Given the description of an element on the screen output the (x, y) to click on. 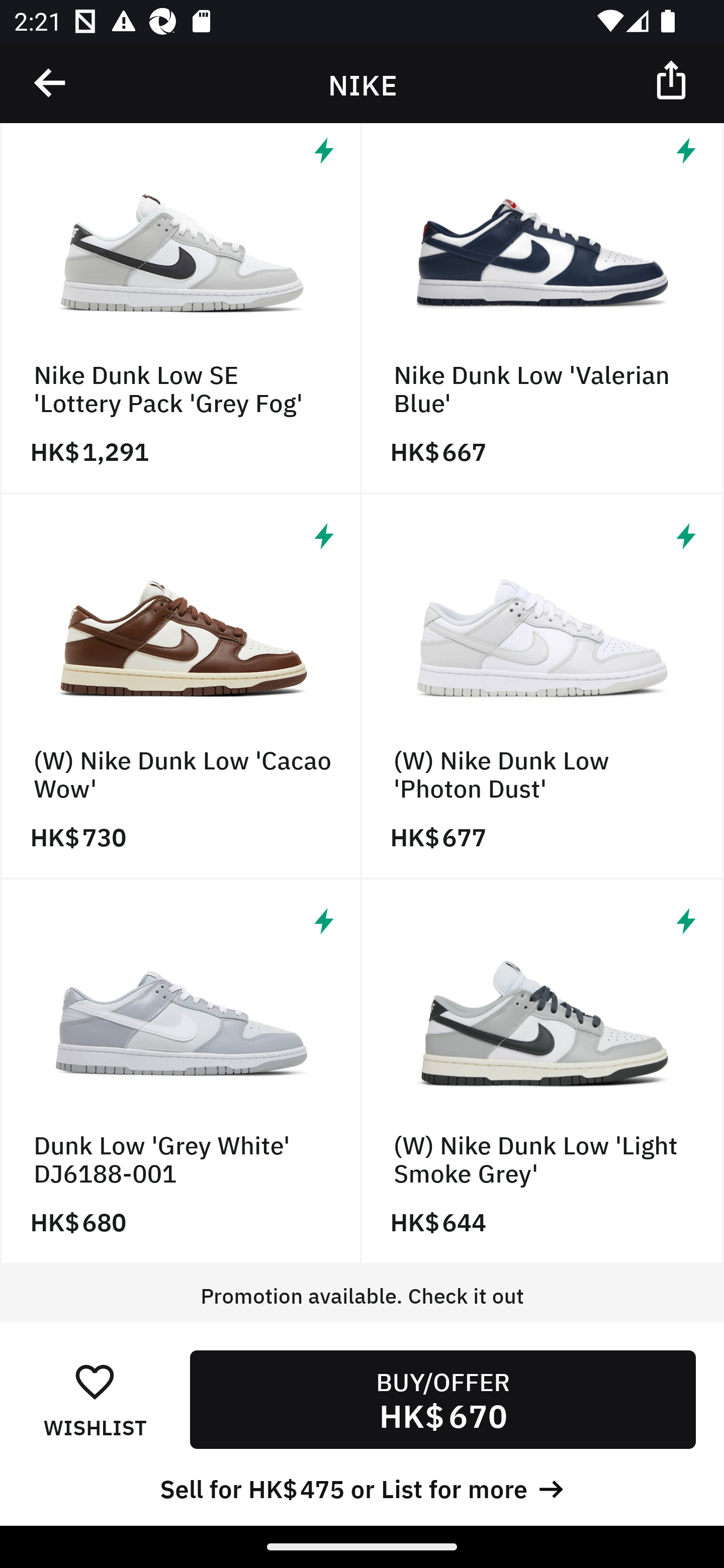
 (50, 83)
 (672, 79)
 Nike Dunk Low 'Valerian Blue' HK$ 667 (543, 308)
 (W) Nike Dunk Low 'Cacao Wow' HK$ 730 (181, 686)
 (W) Nike Dunk Low 'Photon Dust' HK$ 677 (543, 686)
 Dunk Low 'Grey White' DJ6188-001 HK$ 680 (181, 1071)
 (W) Nike Dunk Low 'Light Smoke Grey' HK$ 644 (543, 1071)
BUY/OFFER HK$ 670 (442, 1399)
󰋕 (94, 1380)
Sell for HK$ 475 or List for more (361, 1486)
